Given the description of an element on the screen output the (x, y) to click on. 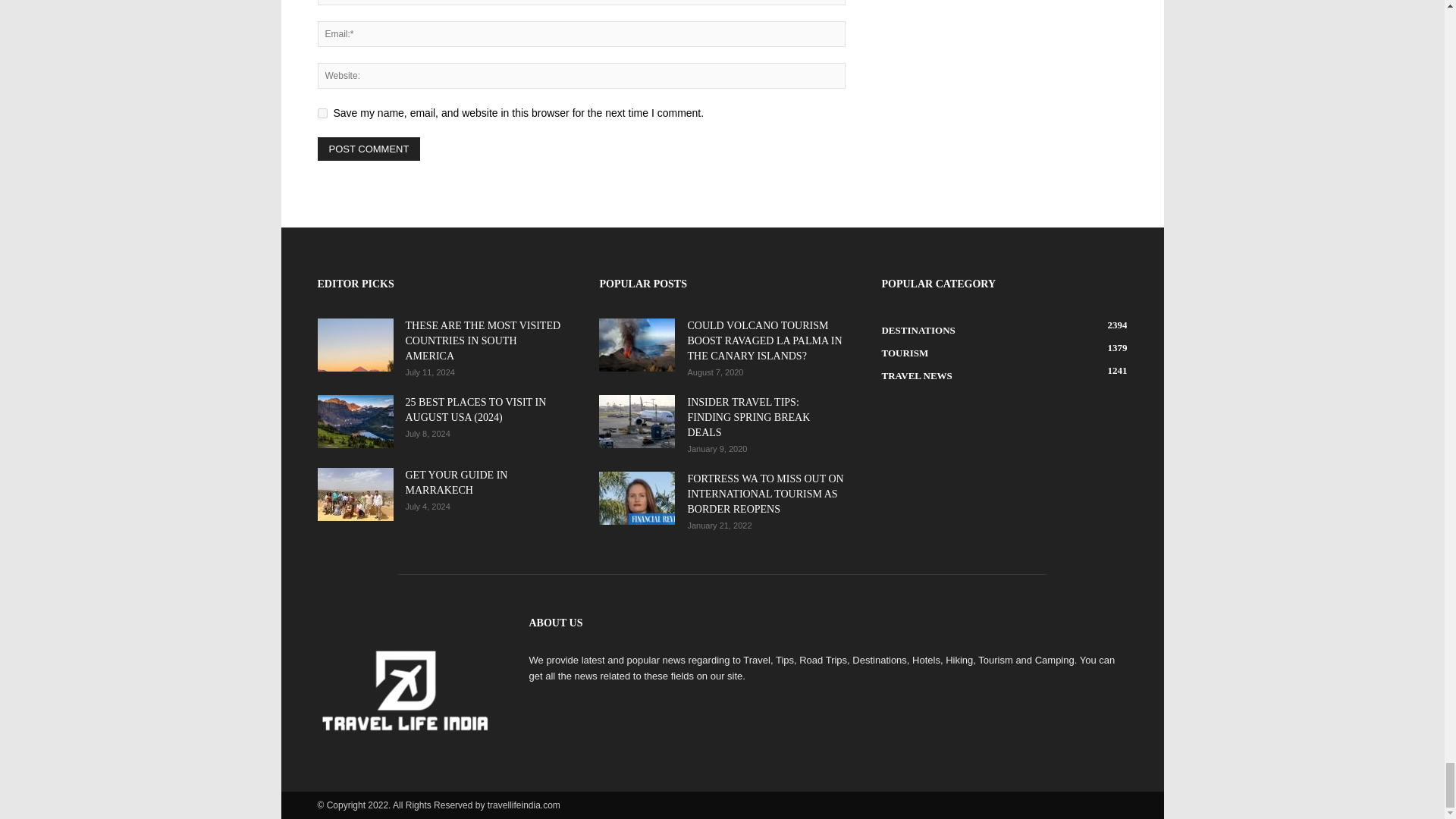
yes (321, 112)
Post Comment (368, 148)
